Given the description of an element on the screen output the (x, y) to click on. 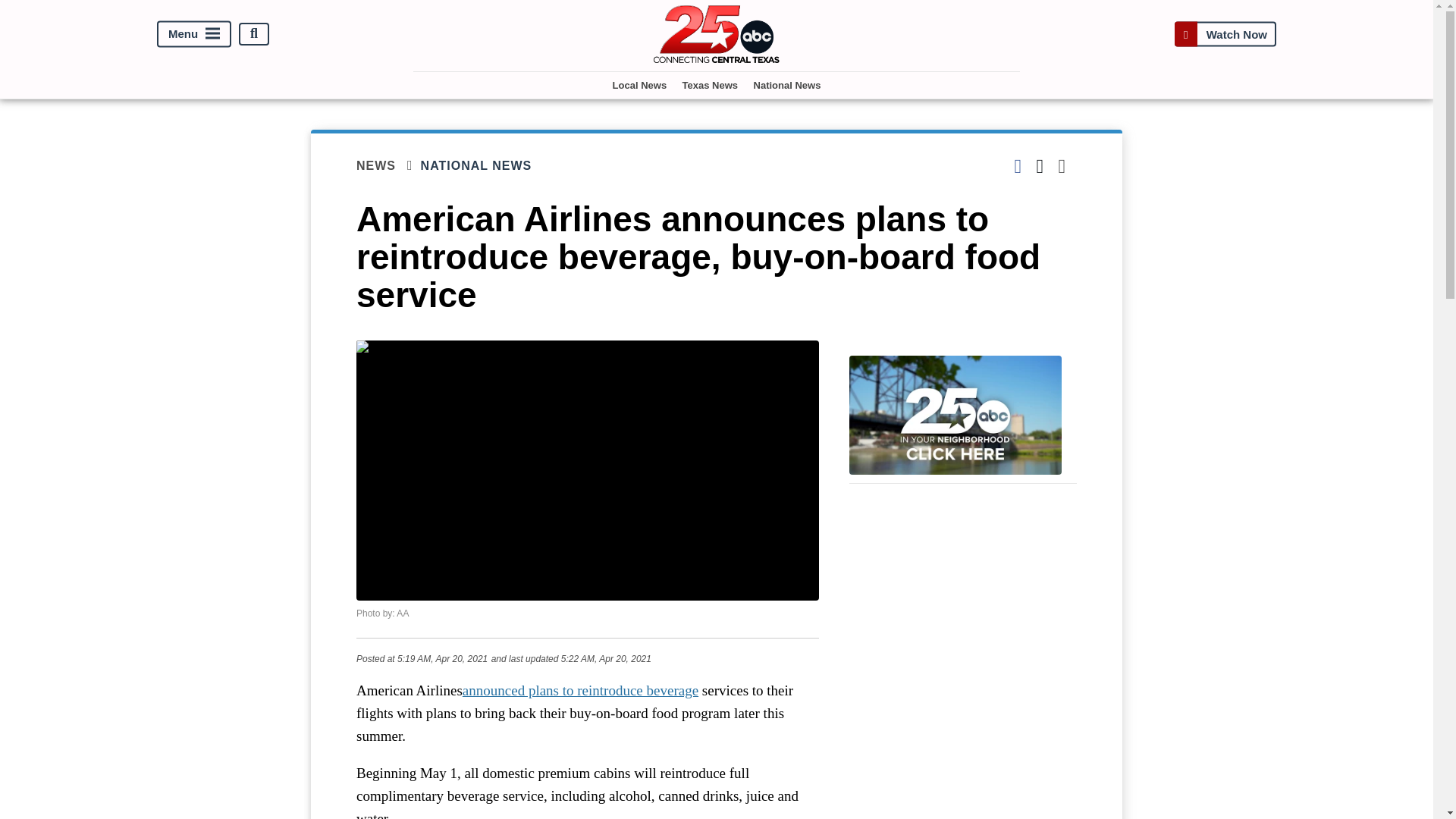
Menu (194, 33)
Watch Now (1224, 33)
